Given the description of an element on the screen output the (x, y) to click on. 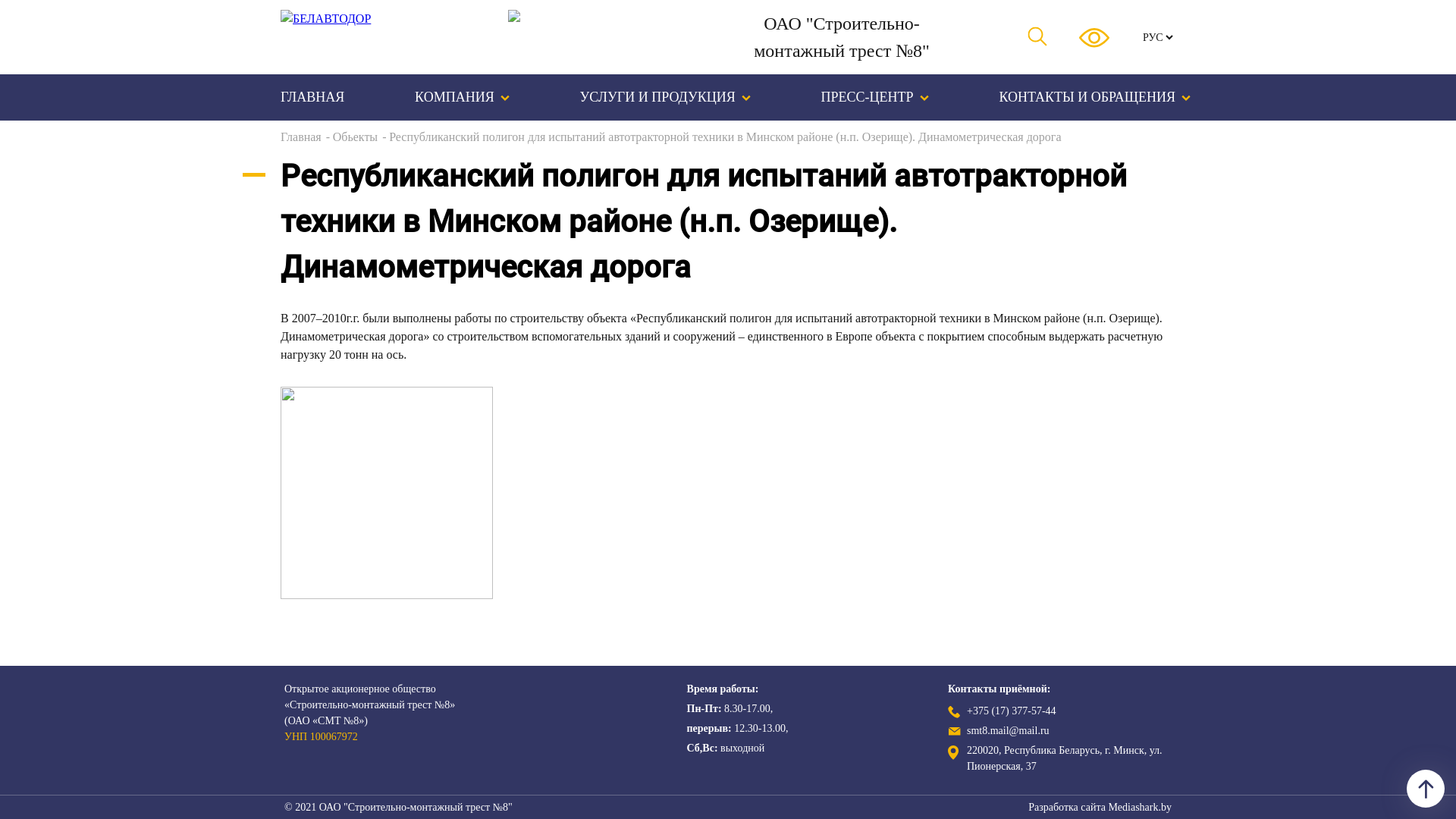
+375 (17) 377-57-44 Element type: text (1011, 711)
smt8.mail@mail.ru Element type: text (1007, 730)
